Given the description of an element on the screen output the (x, y) to click on. 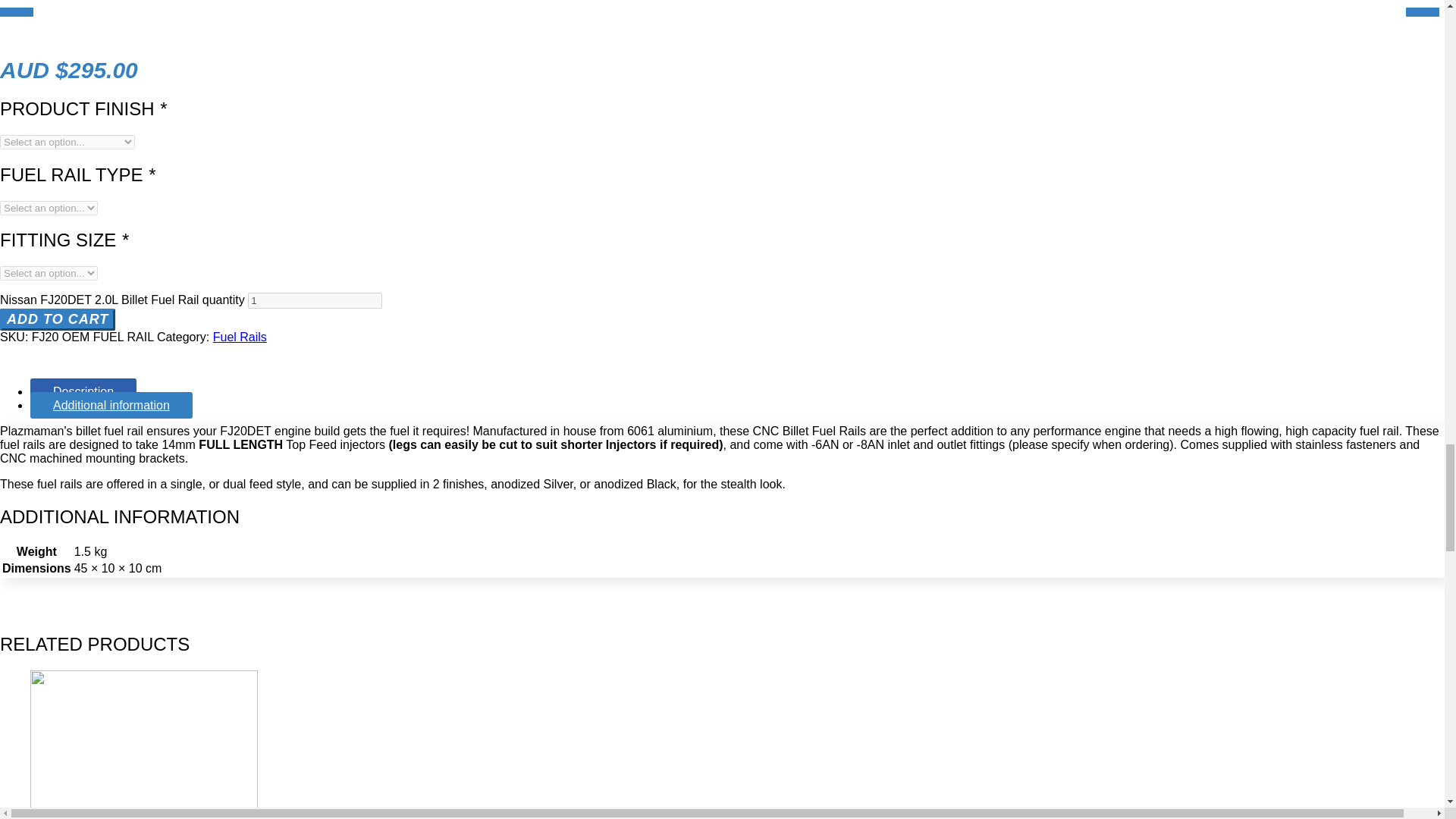
Additional information (111, 405)
Description (83, 391)
Fuel Rails (239, 336)
1 (314, 300)
ADD TO CART (57, 319)
